Given the description of an element on the screen output the (x, y) to click on. 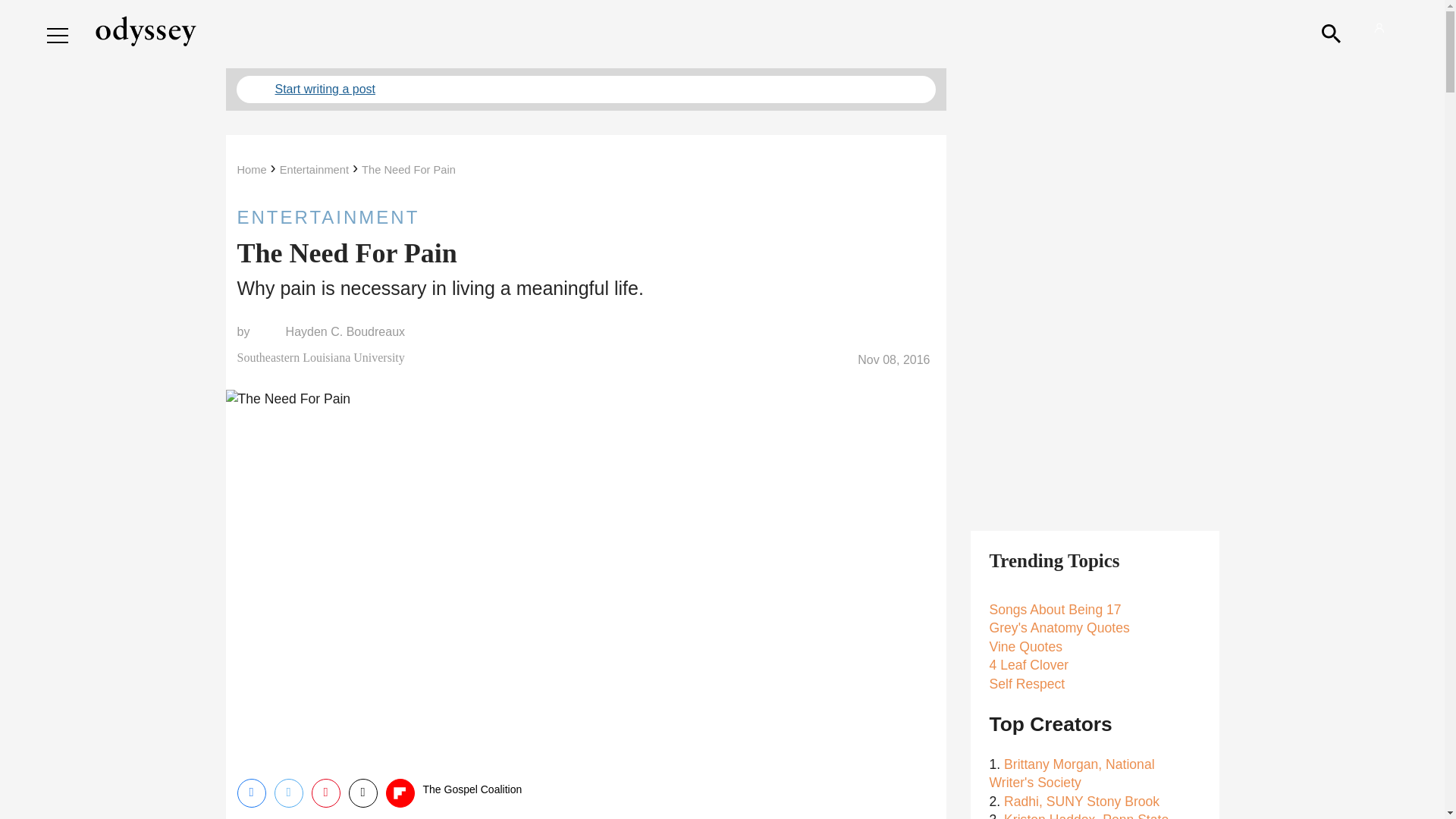
ENTERTAINMENT (584, 217)
Hayden C. Boudreaux (344, 332)
Start writing a post (585, 89)
Entertainment (314, 169)
The Need For Pain (408, 169)
Home (250, 169)
